Given the description of an element on the screen output the (x, y) to click on. 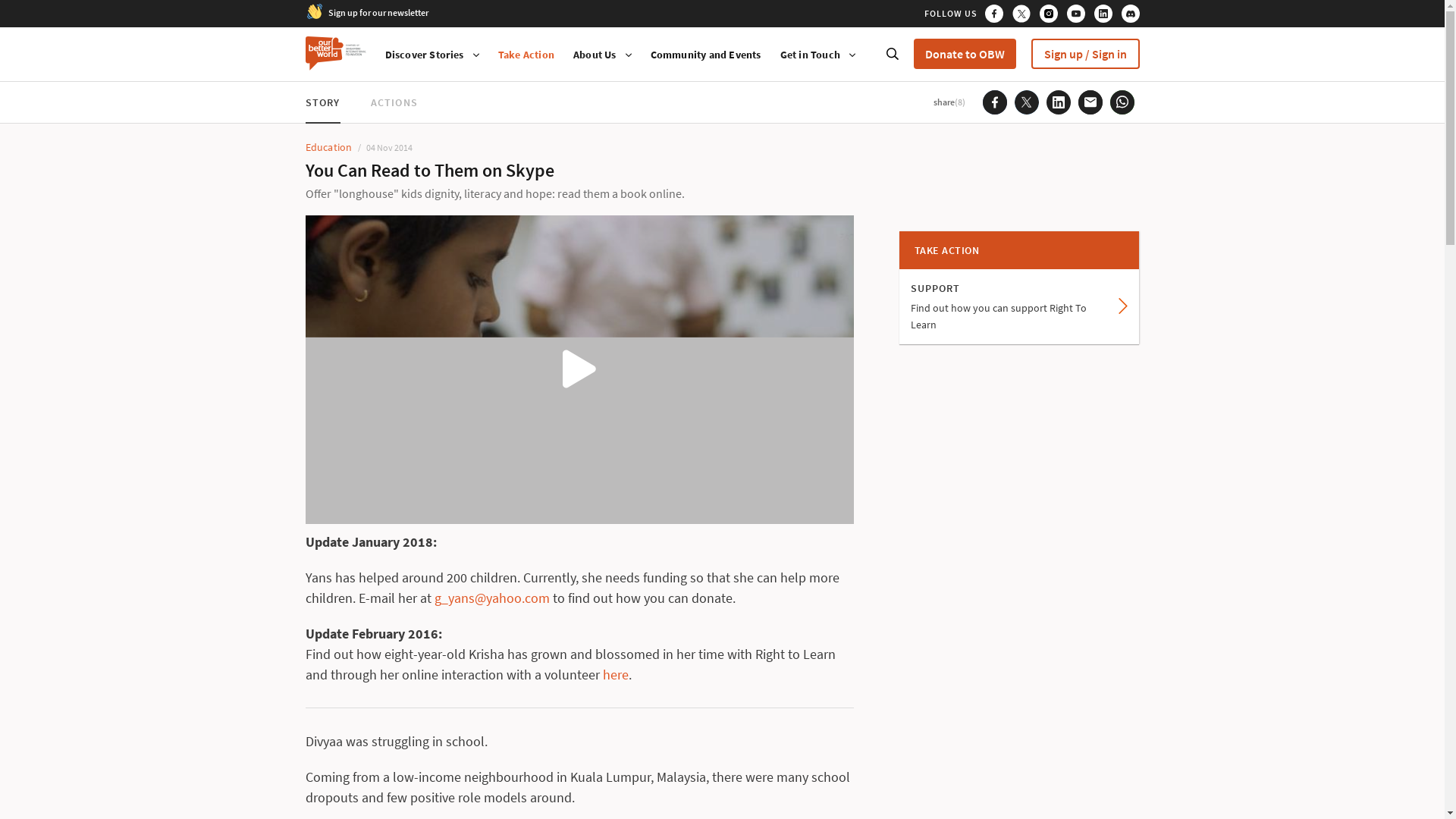
Take action (525, 54)
Donate to OBW (963, 53)
Discover stories (810, 54)
Community and events (705, 54)
Find out how you can support Right To Learn (1019, 306)
Discover stories (424, 54)
Discover stories (594, 54)
Sign up for our newsletter (377, 11)
Discover Stories (424, 54)
